Given the description of an element on the screen output the (x, y) to click on. 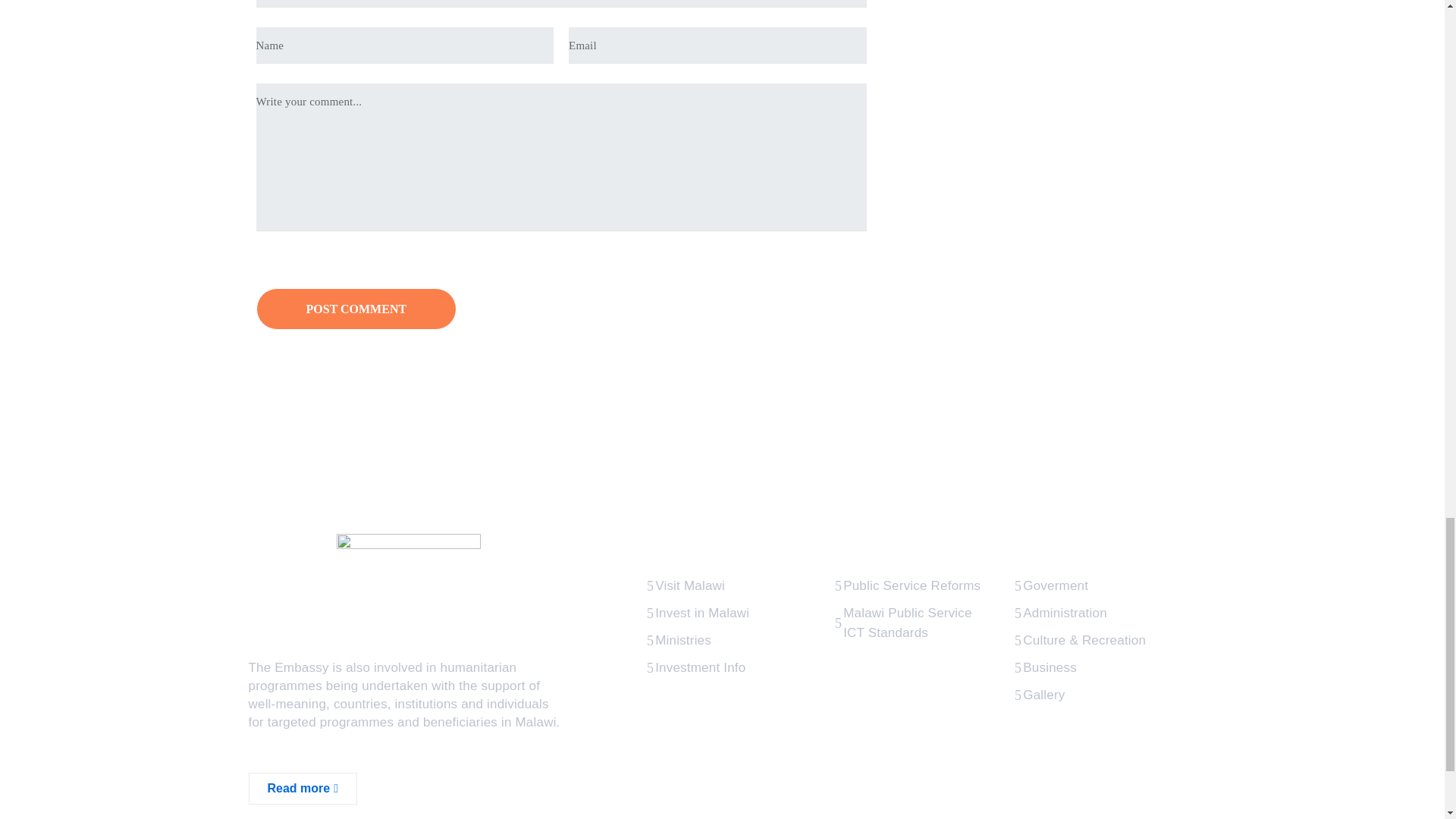
Post Comment (356, 309)
